Given the description of an element on the screen output the (x, y) to click on. 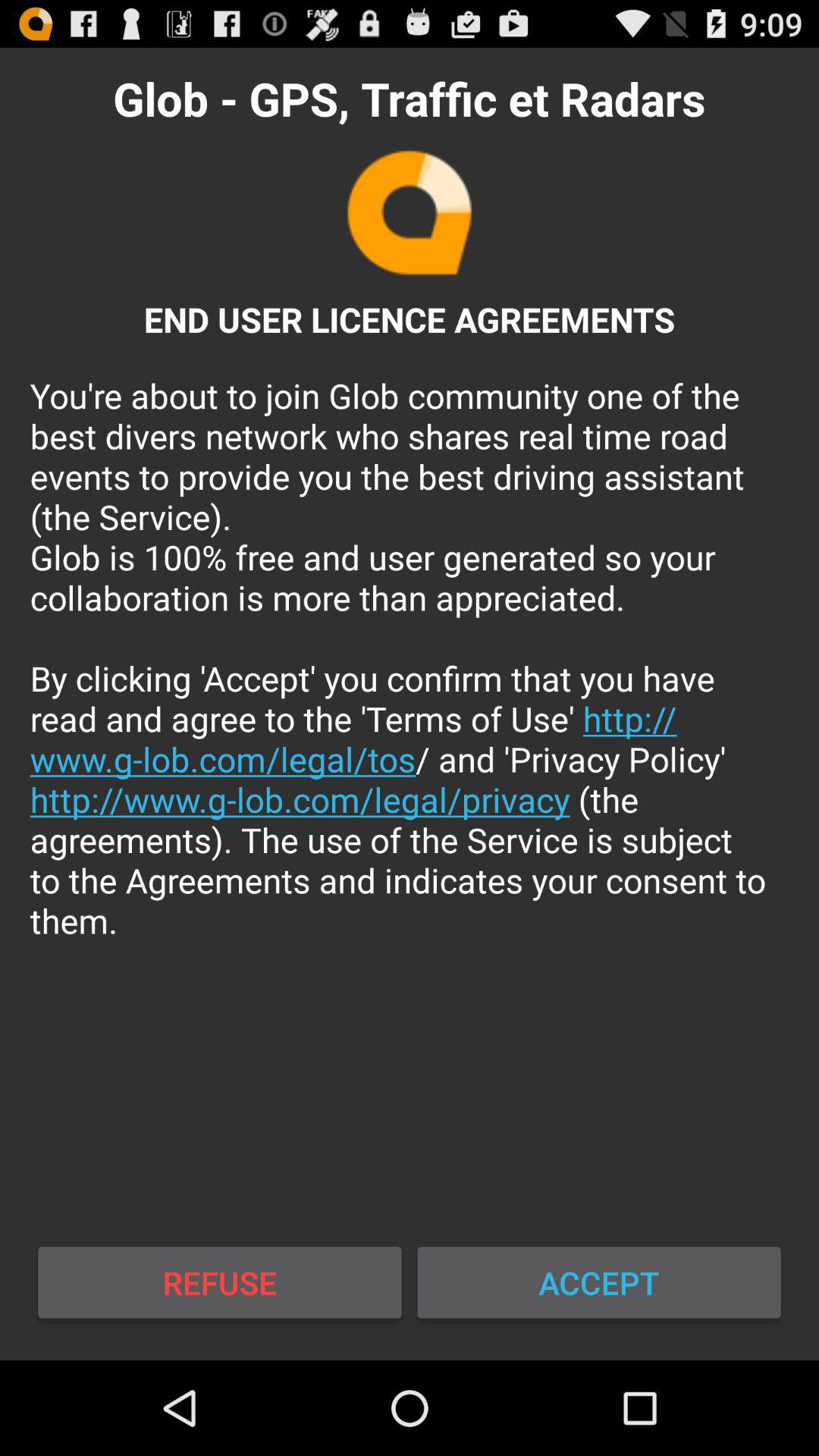
launch button at the bottom left corner (219, 1282)
